Given the description of an element on the screen output the (x, y) to click on. 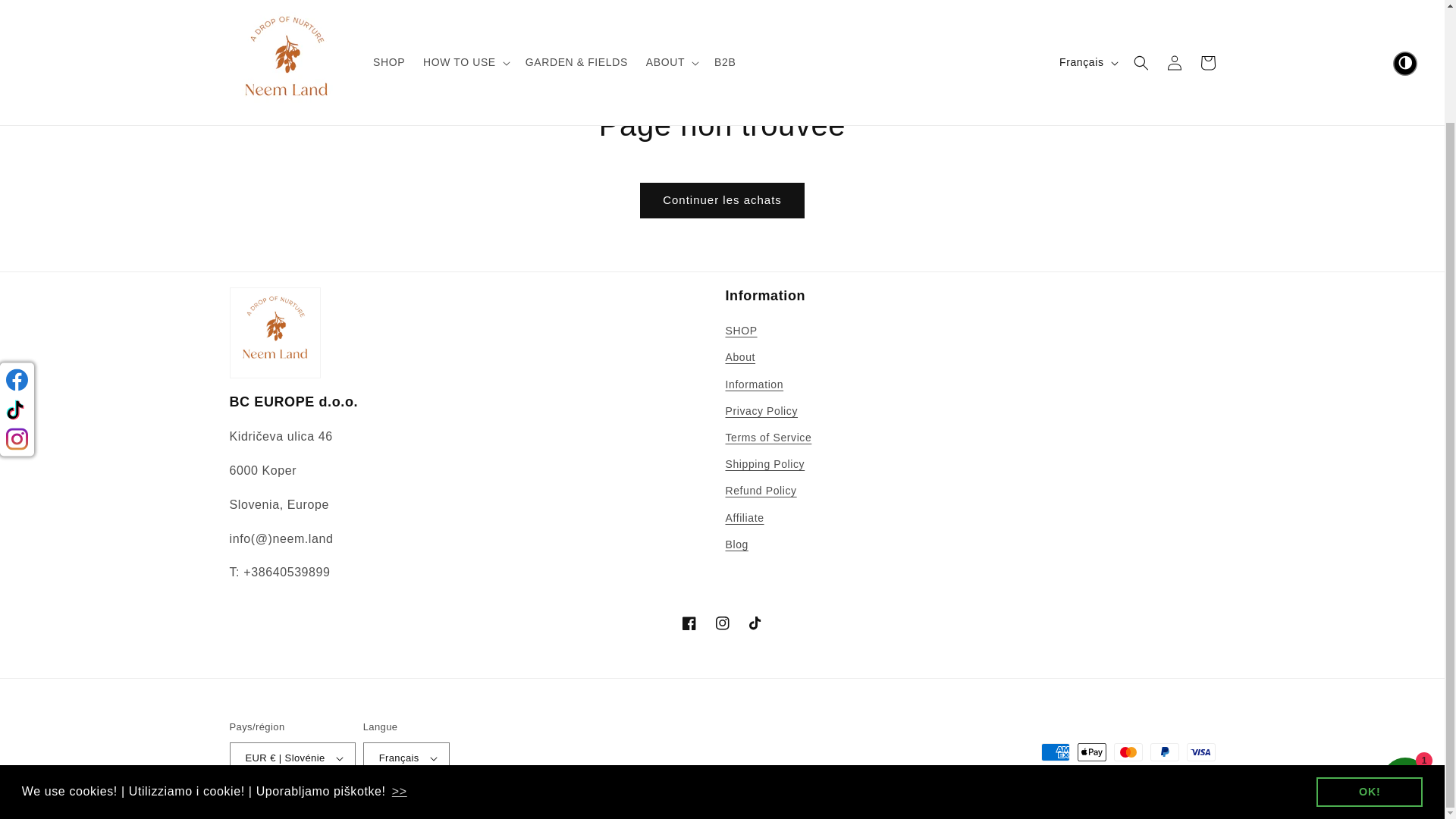
OK! (1369, 657)
Chat de la boutique en ligne Shopify (1404, 648)
